Given the description of an element on the screen output the (x, y) to click on. 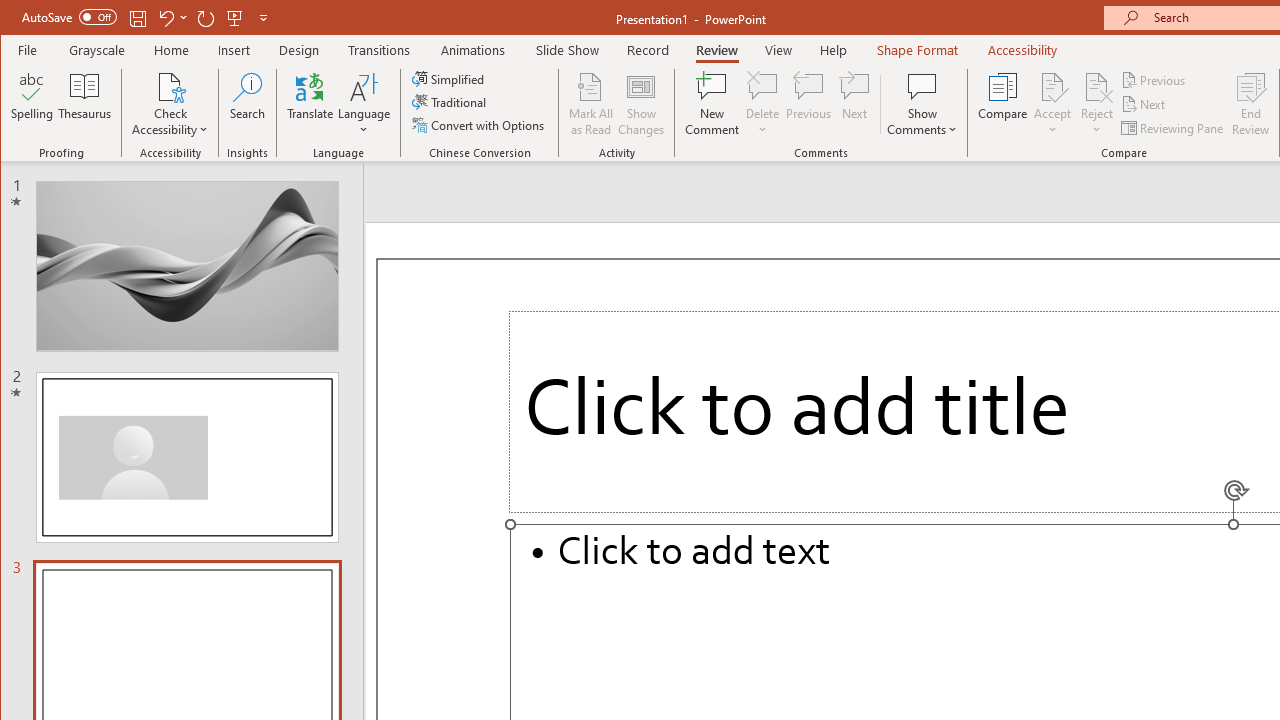
Thesaurus... (84, 104)
Show Changes (640, 104)
Accept (1052, 104)
Accept Change (1052, 86)
Traditional (450, 101)
Mark All as Read (591, 104)
Language (363, 104)
